Given the description of an element on the screen output the (x, y) to click on. 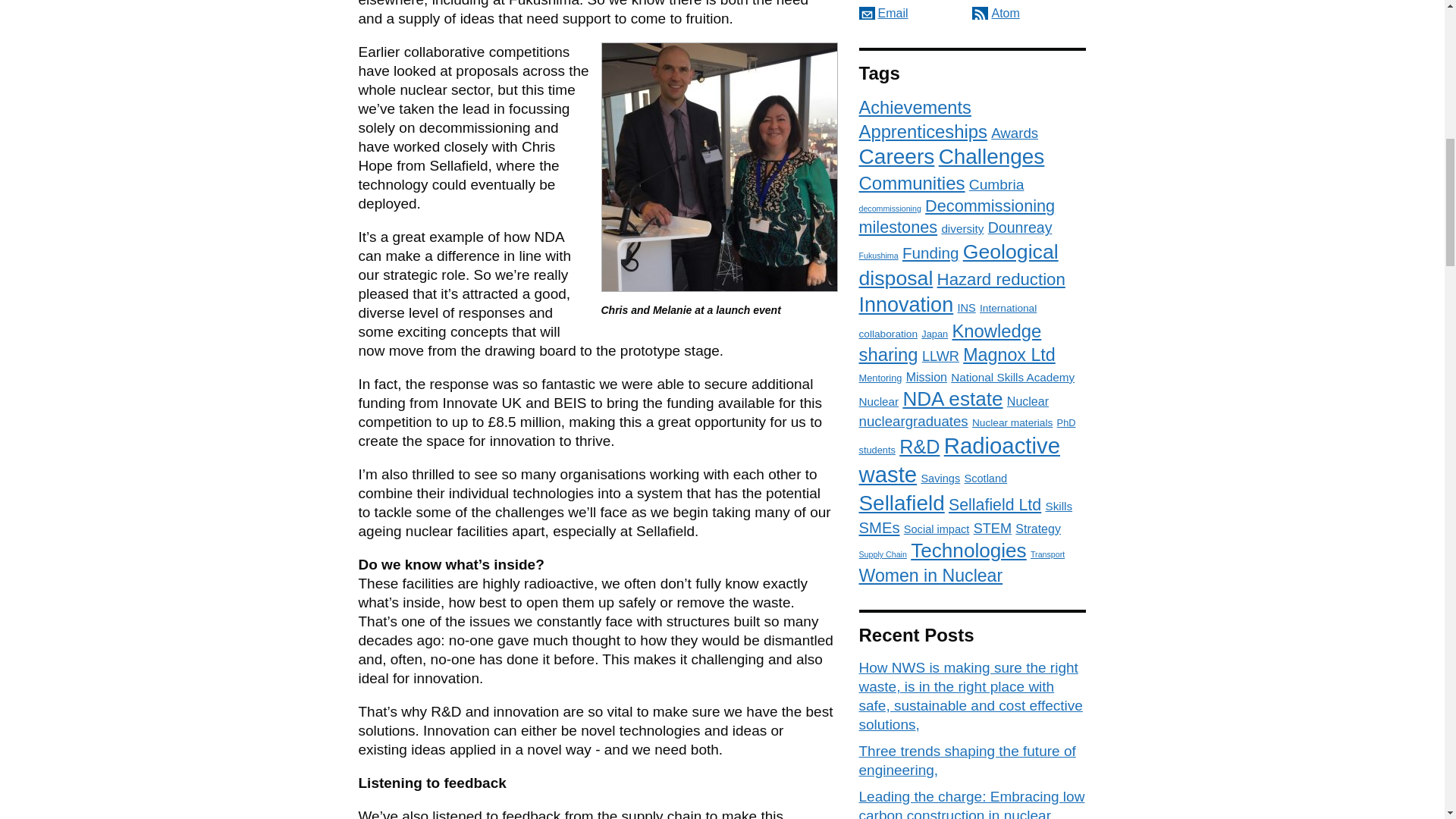
Apprenticeships (923, 131)
Atom (995, 12)
Email (883, 12)
Achievements (915, 107)
